Given the description of an element on the screen output the (x, y) to click on. 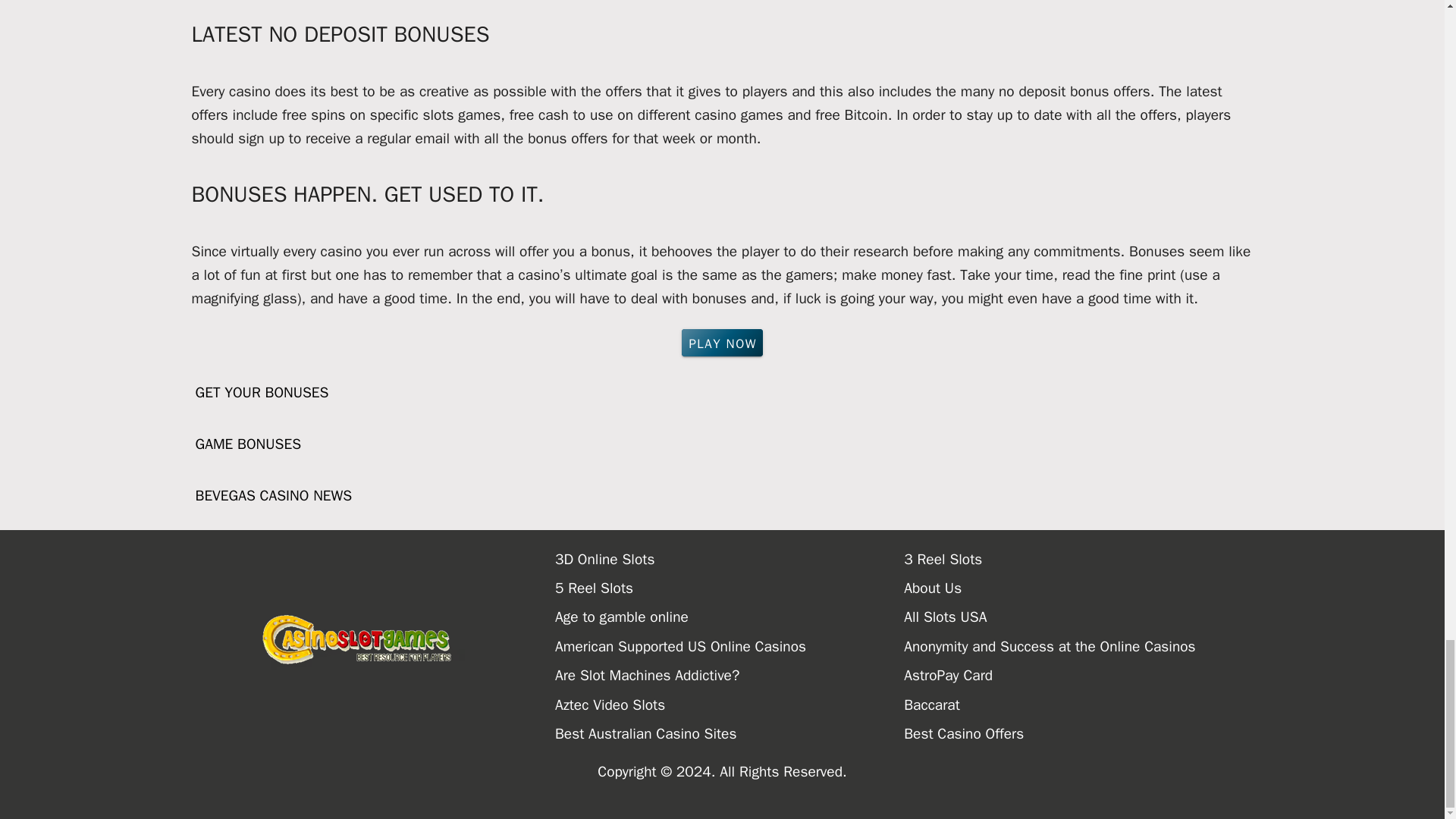
Anonymity and Success at the Online Casinos (1078, 646)
Aztec Video Slots (729, 705)
Are Slot Machines Addictive? (729, 675)
5 Reel Slots (729, 588)
Best Australian Casino Sites (729, 733)
PLAY NOW (721, 342)
About Us (1078, 588)
3D Online Slots (729, 559)
3 Reel Slots (1078, 559)
American Supported US Online Casinos (729, 646)
Age to gamble online (729, 616)
All Slots USA (1078, 616)
Baccarat (1078, 705)
Best Casino Offers (1078, 733)
AstroPay Card (1078, 675)
